Given the description of an element on the screen output the (x, y) to click on. 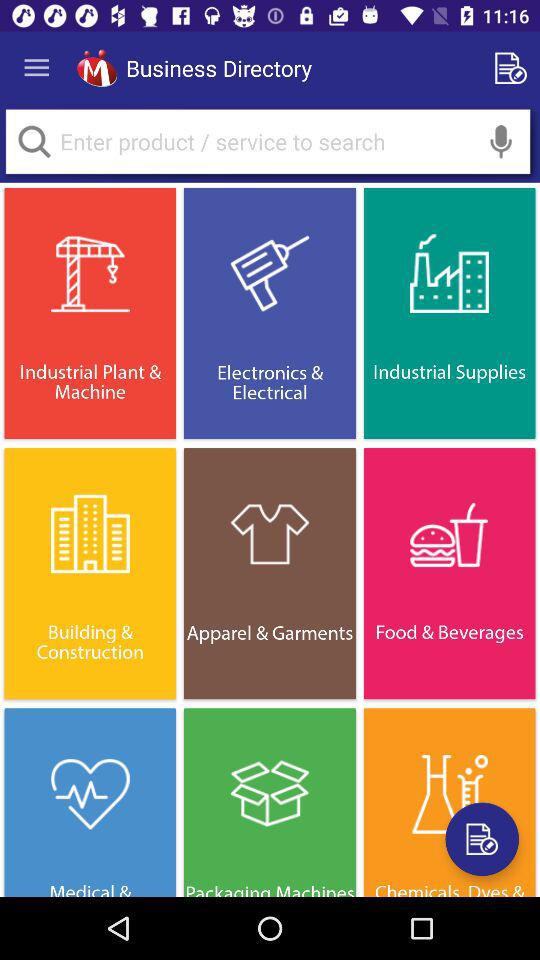
register a new product or service (482, 839)
